Given the description of an element on the screen output the (x, y) to click on. 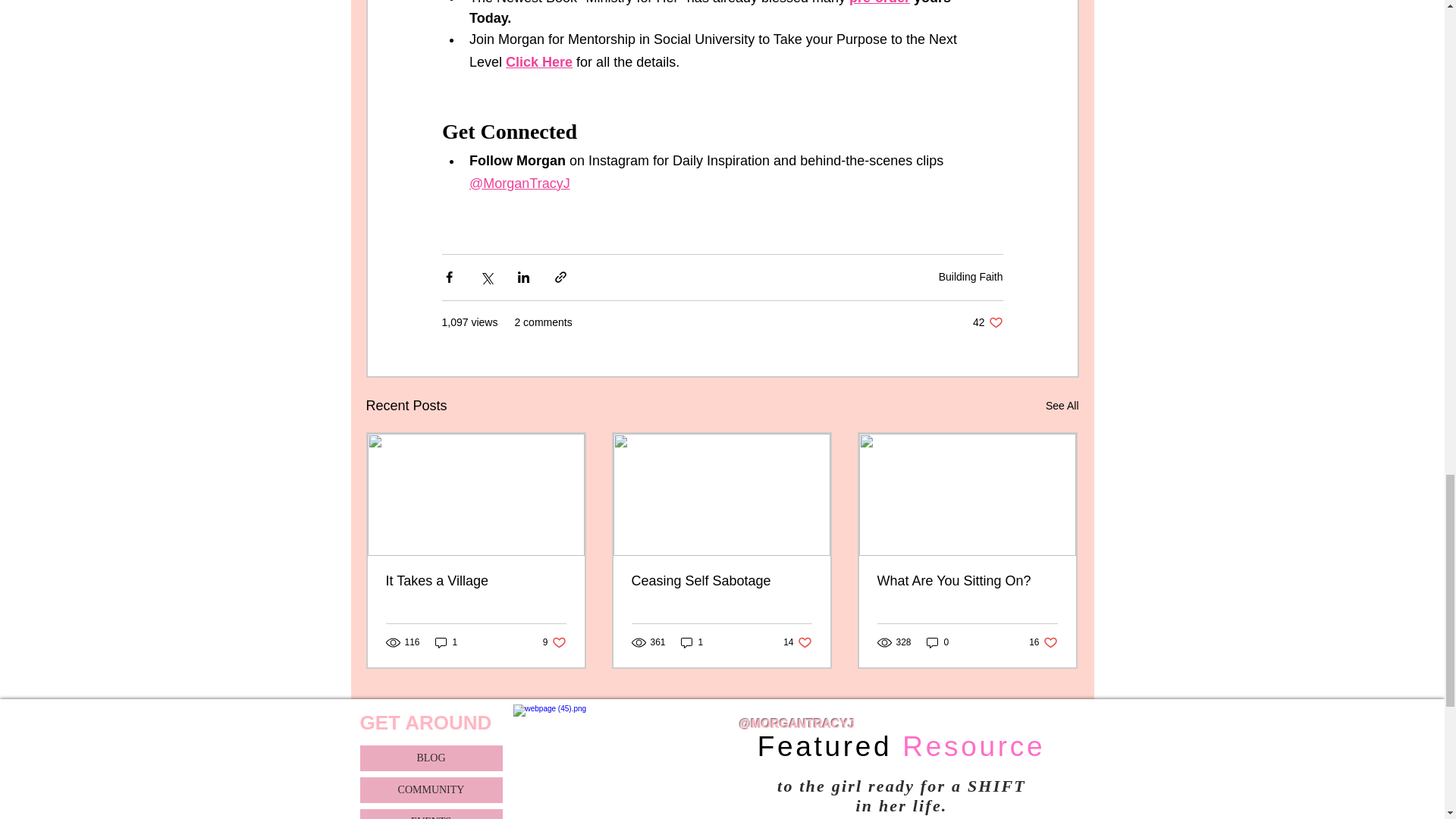
See All (1061, 405)
It Takes a Village (987, 322)
1 (475, 580)
Click Here (446, 642)
Building Faith (538, 61)
pre-order (971, 276)
